Given the description of an element on the screen output the (x, y) to click on. 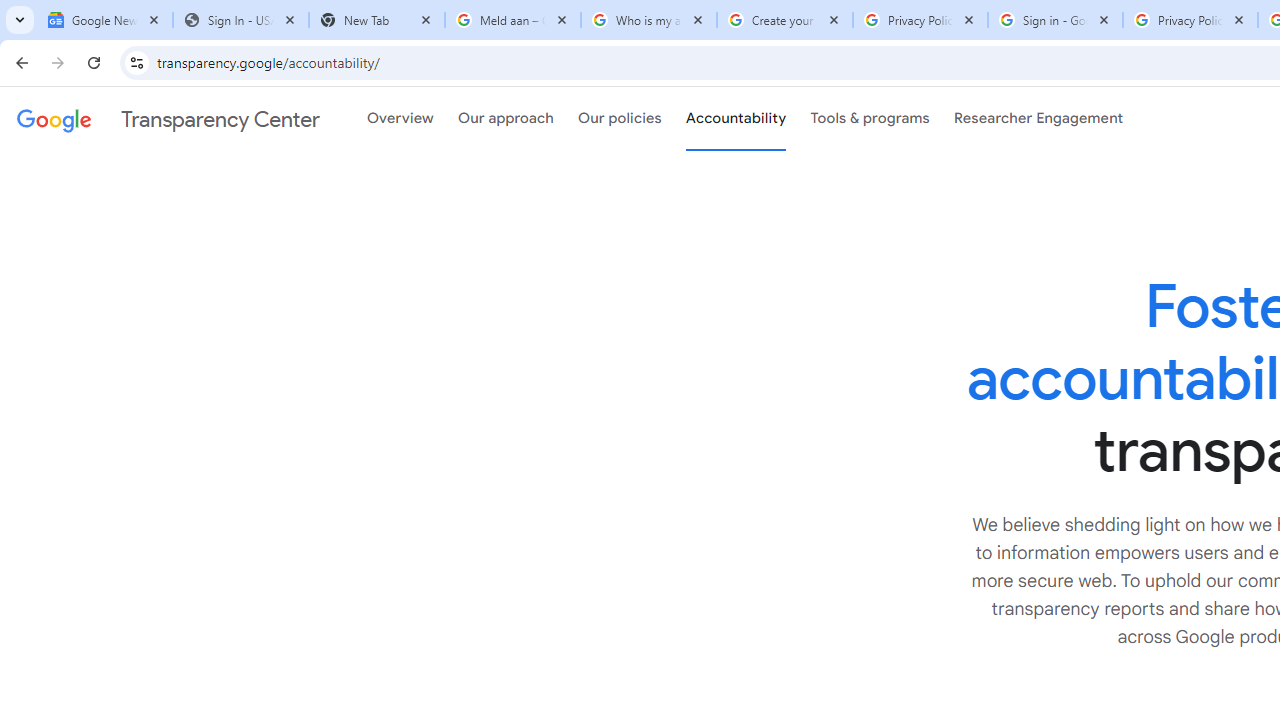
Our approach (506, 119)
Researcher Engagement (1038, 119)
Sign In - USA TODAY (240, 20)
Create your Google Account (784, 20)
New Tab (376, 20)
